Given the description of an element on the screen output the (x, y) to click on. 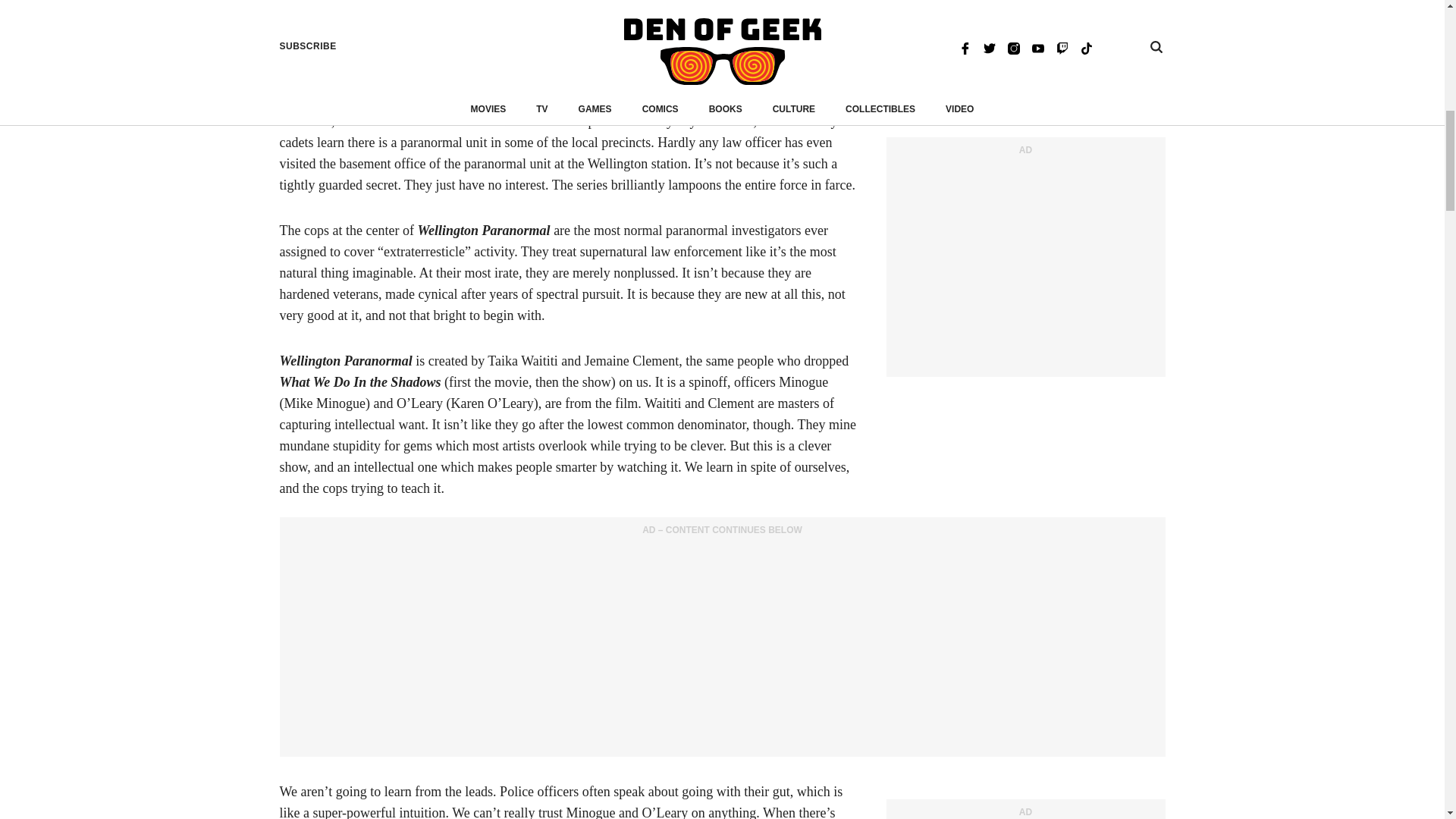
What We Do In the Shadows (601, 78)
